Given the description of an element on the screen output the (x, y) to click on. 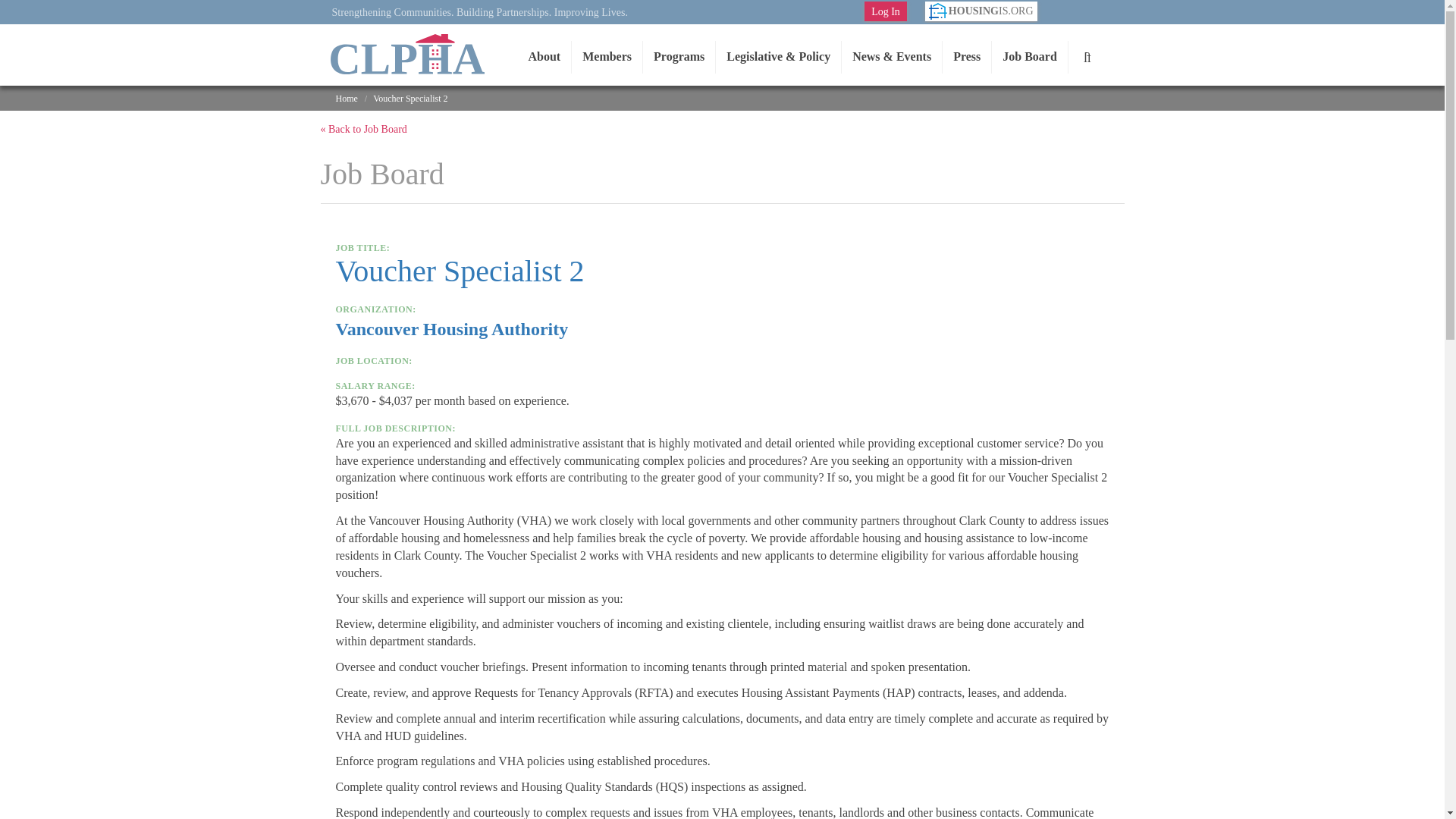
Home (406, 54)
Search (1087, 56)
